Given the description of an element on the screen output the (x, y) to click on. 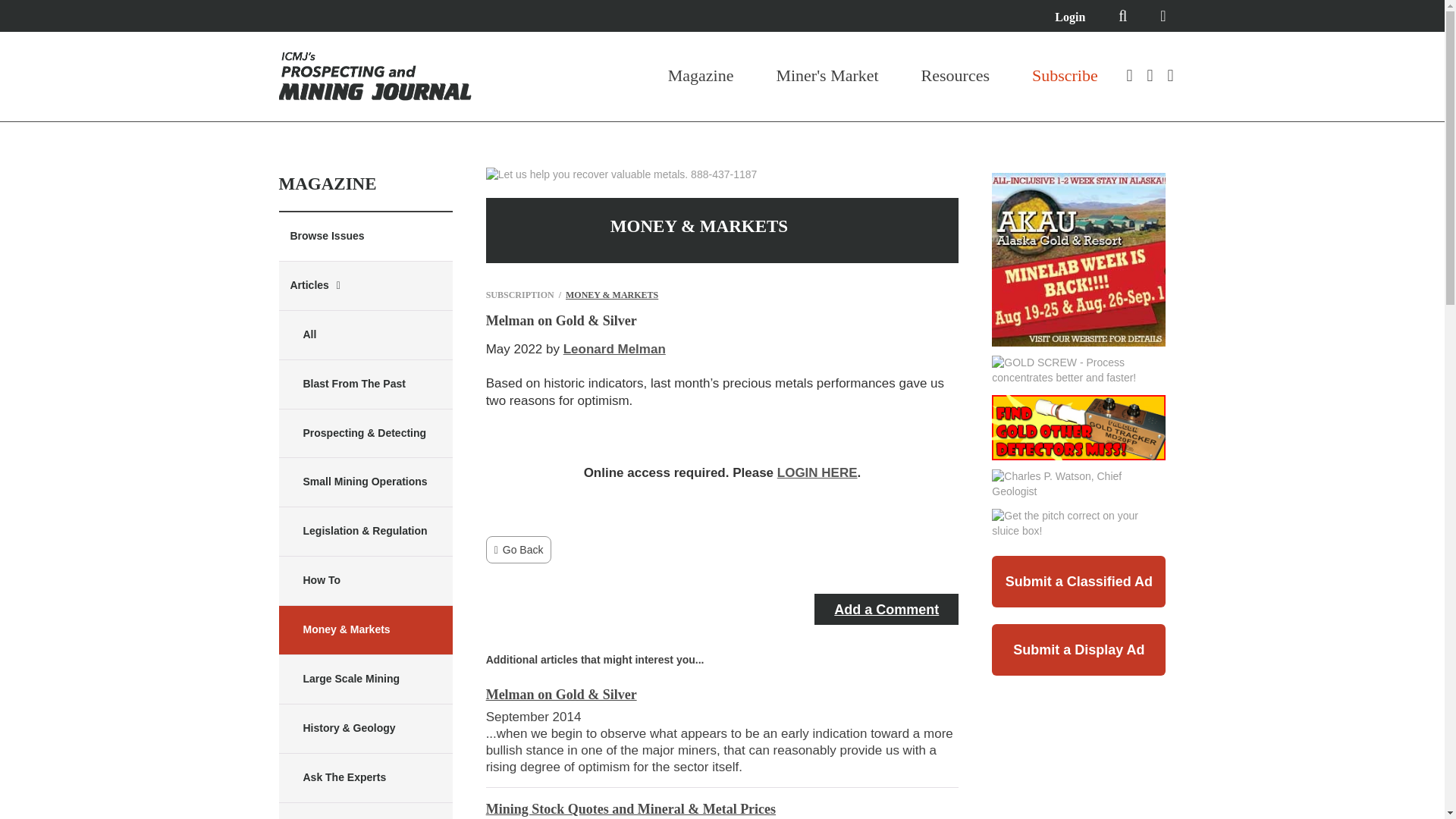
Miner's Market (826, 75)
Login (1069, 16)
Magazine (700, 75)
GOLD SCREW - Process concentrates better and faster! (1078, 370)
The most sensitive gold probe available! (1078, 427)
Great Specials - See website for details! (1078, 259)
Resources (955, 75)
Let us help you recover valuable metals. 888-437-1187 (621, 174)
Get the pitch correct on your sluice box! (1078, 523)
Charles P. Watson, Chief Geologist (1078, 484)
